Given the description of an element on the screen output the (x, y) to click on. 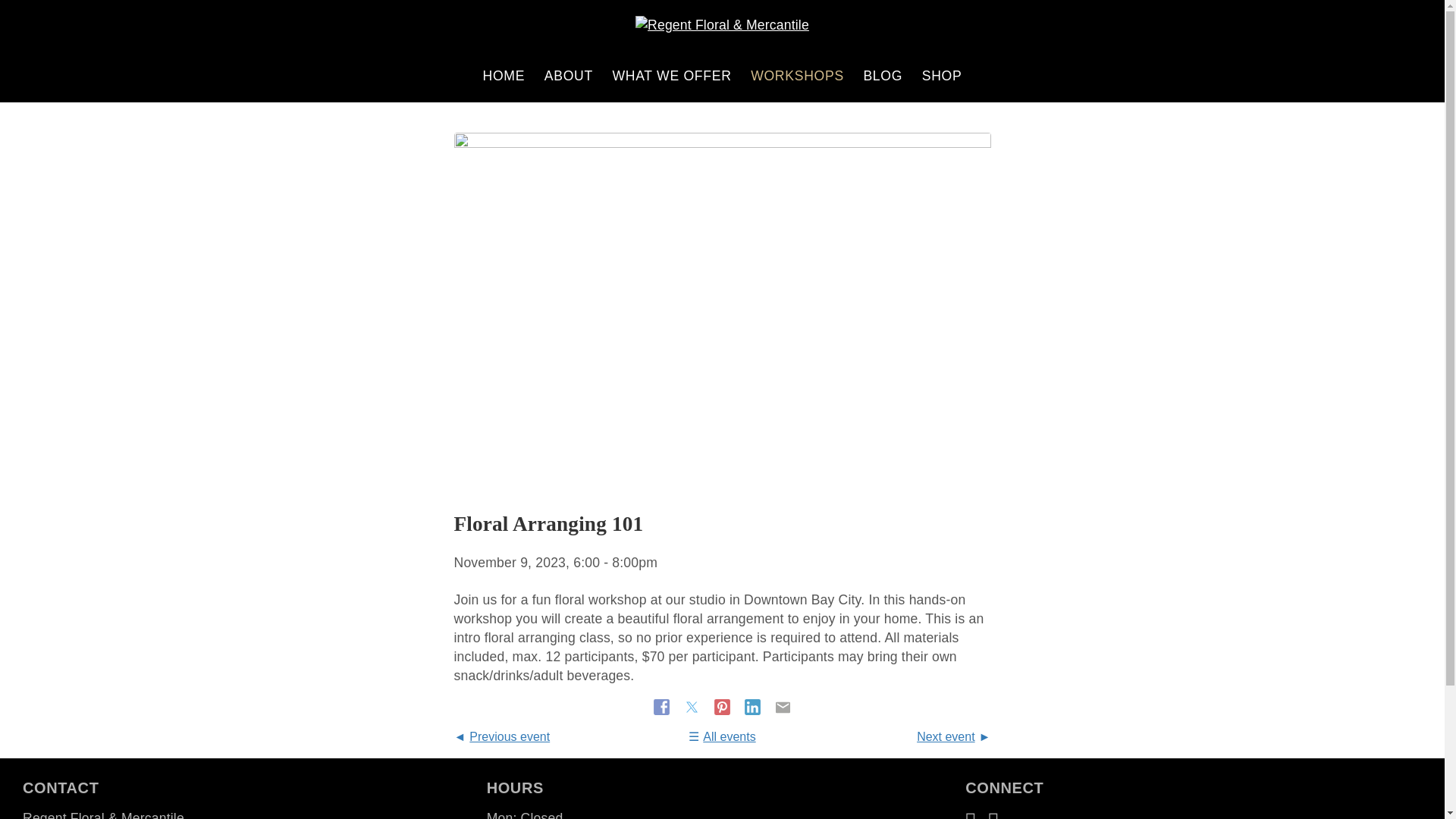
Share in an email (782, 706)
Instagram wall (993, 813)
All events (721, 736)
ABOUT (568, 75)
Share on Facebook (663, 706)
Save on Pinterest (724, 706)
Tweet this (693, 706)
Next event (953, 736)
Facebook page (970, 813)
Share on LinkedIn (753, 706)
SHOP (941, 75)
WORKSHOPS (796, 75)
Previous event (501, 736)
BLOG (883, 75)
WHAT WE OFFER (672, 75)
